Given the description of an element on the screen output the (x, y) to click on. 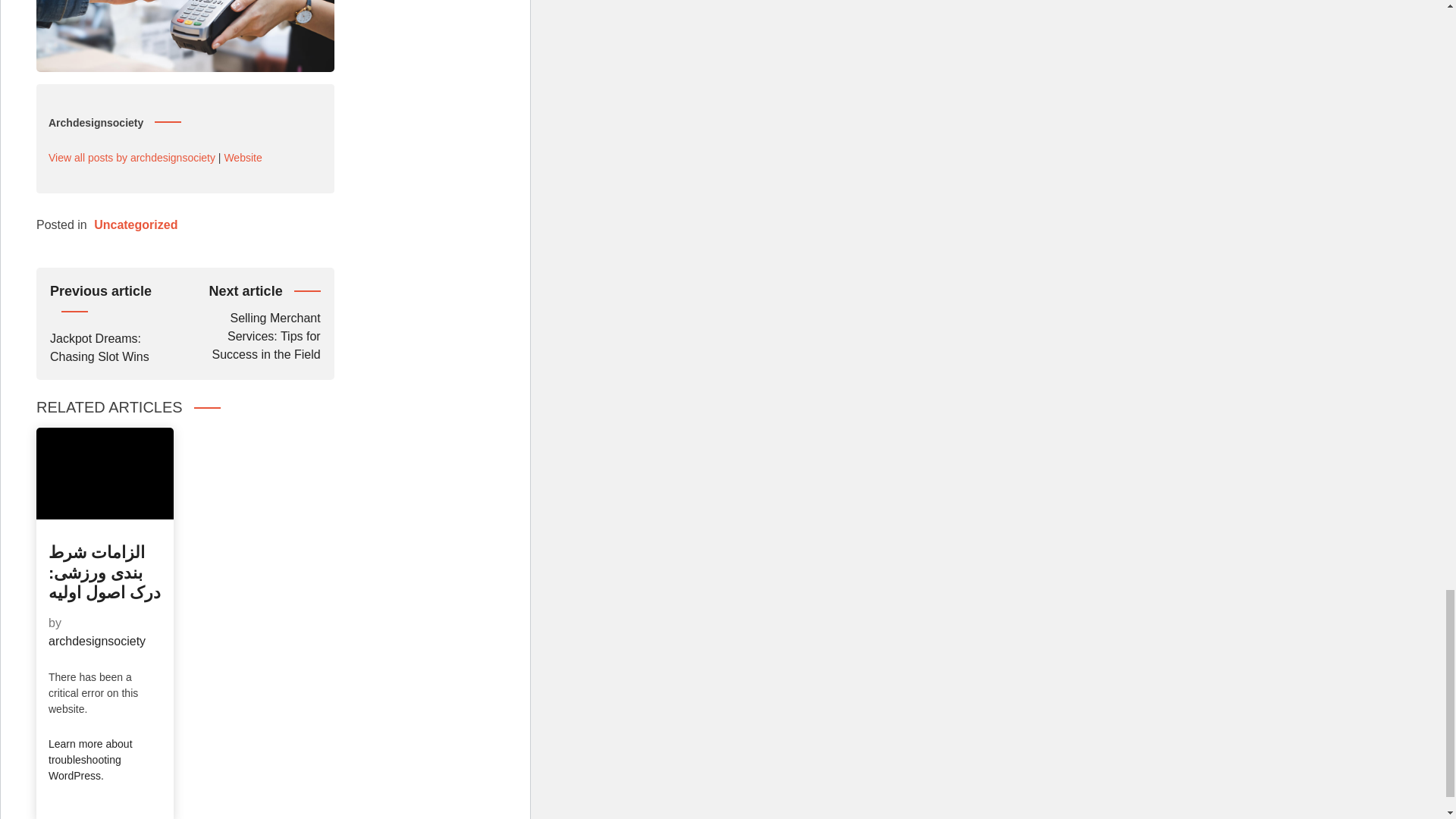
Website (243, 157)
archdesignsociety (96, 640)
Uncategorized (116, 322)
View all posts by archdesignsociety (135, 224)
